Given the description of an element on the screen output the (x, y) to click on. 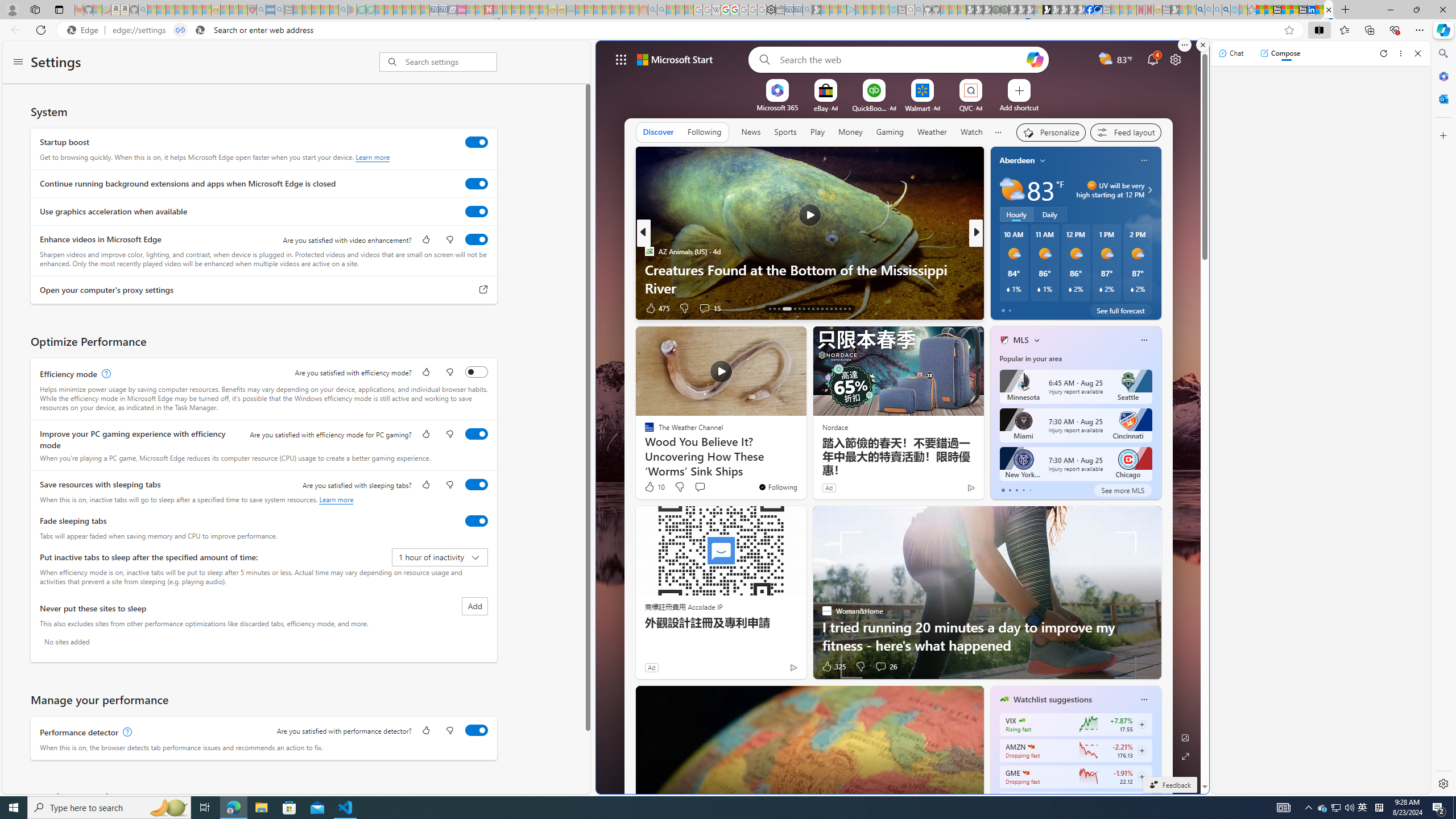
Far & Wide (999, 269)
Jobs - lastminute.com Investor Portal - Sleeping (461, 9)
Sign in to your account - Sleeping (1038, 9)
